Given the description of an element on the screen output the (x, y) to click on. 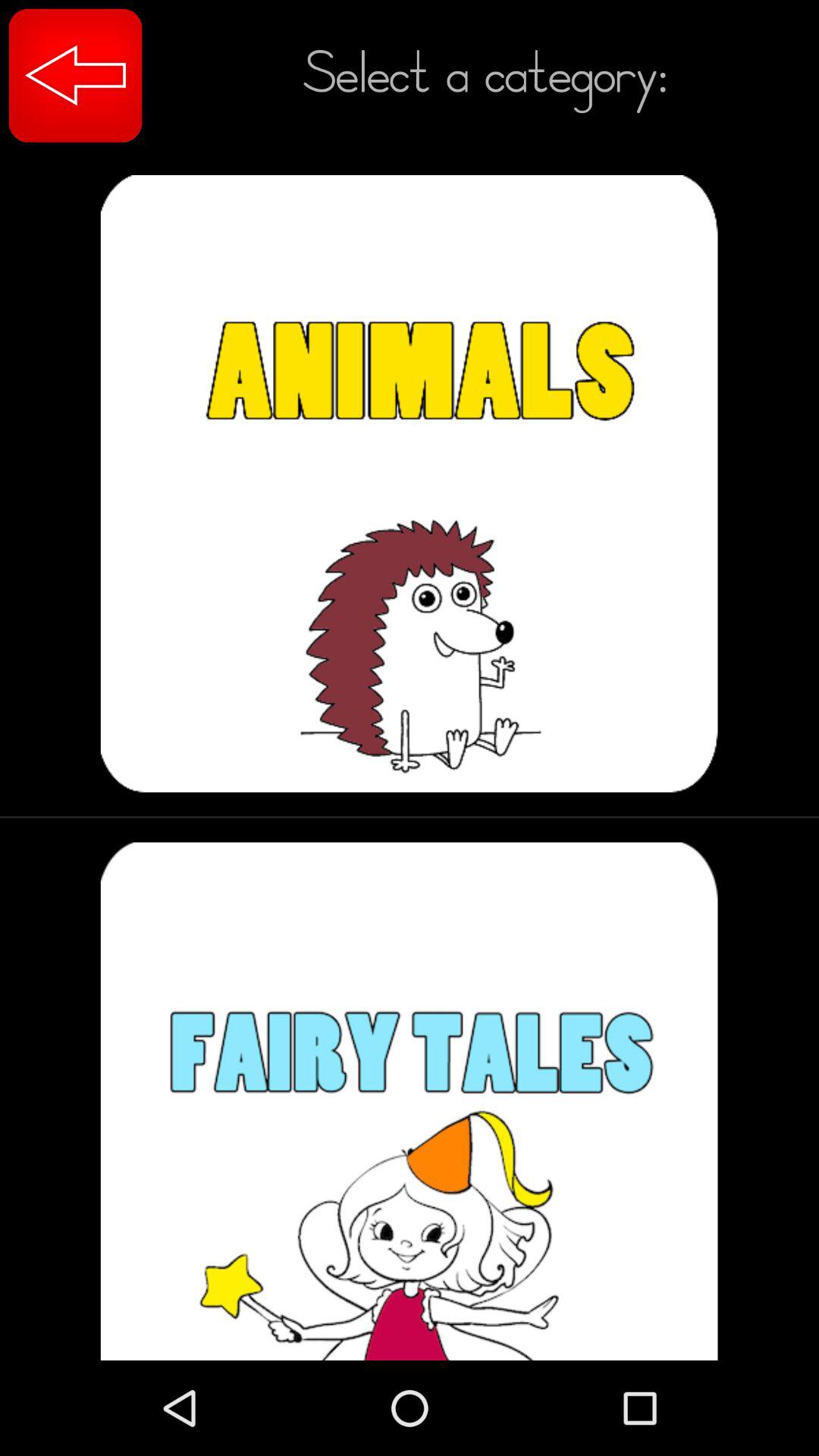
go back (75, 75)
